Given the description of an element on the screen output the (x, y) to click on. 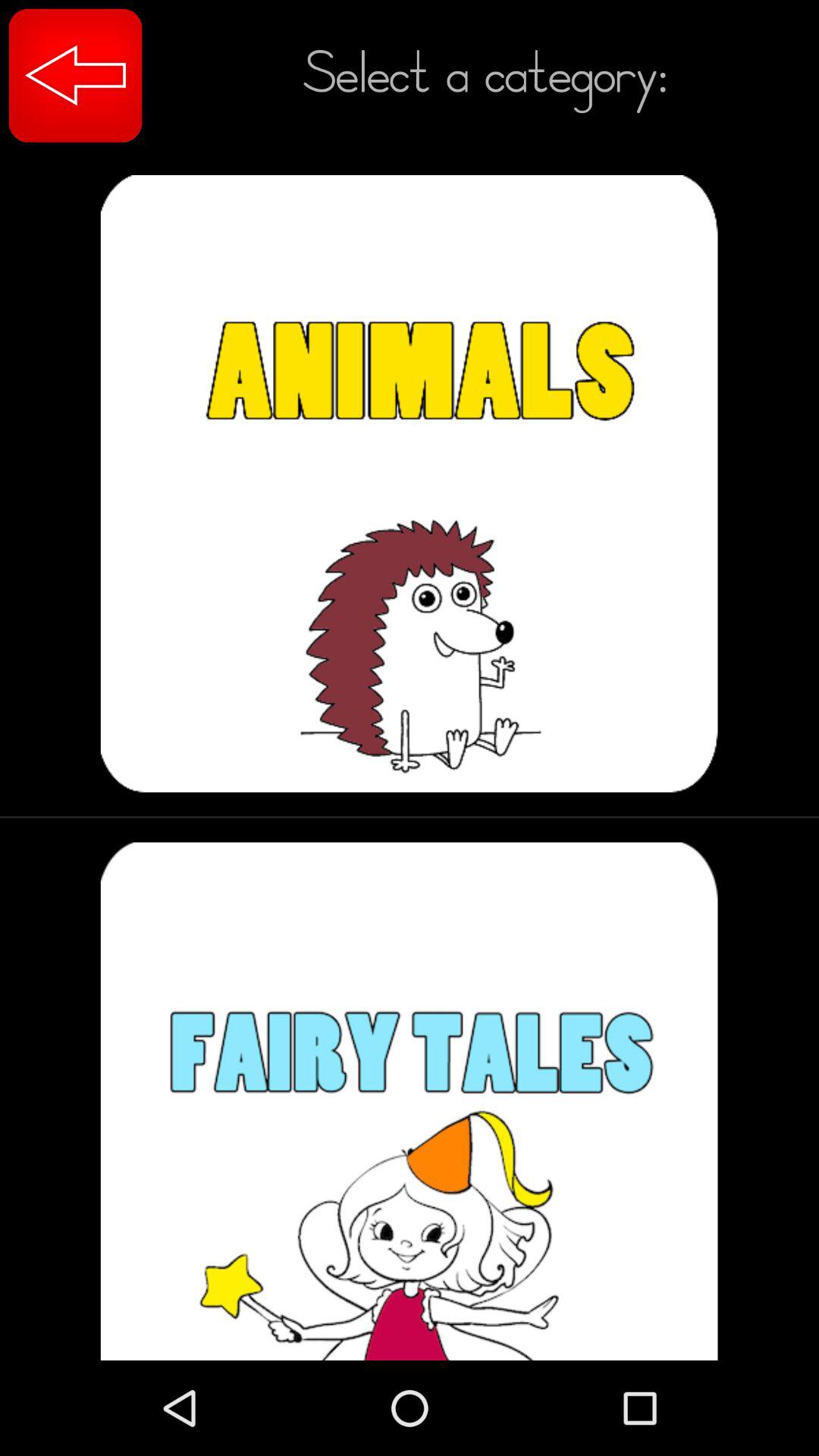
go back (75, 75)
